Given the description of an element on the screen output the (x, y) to click on. 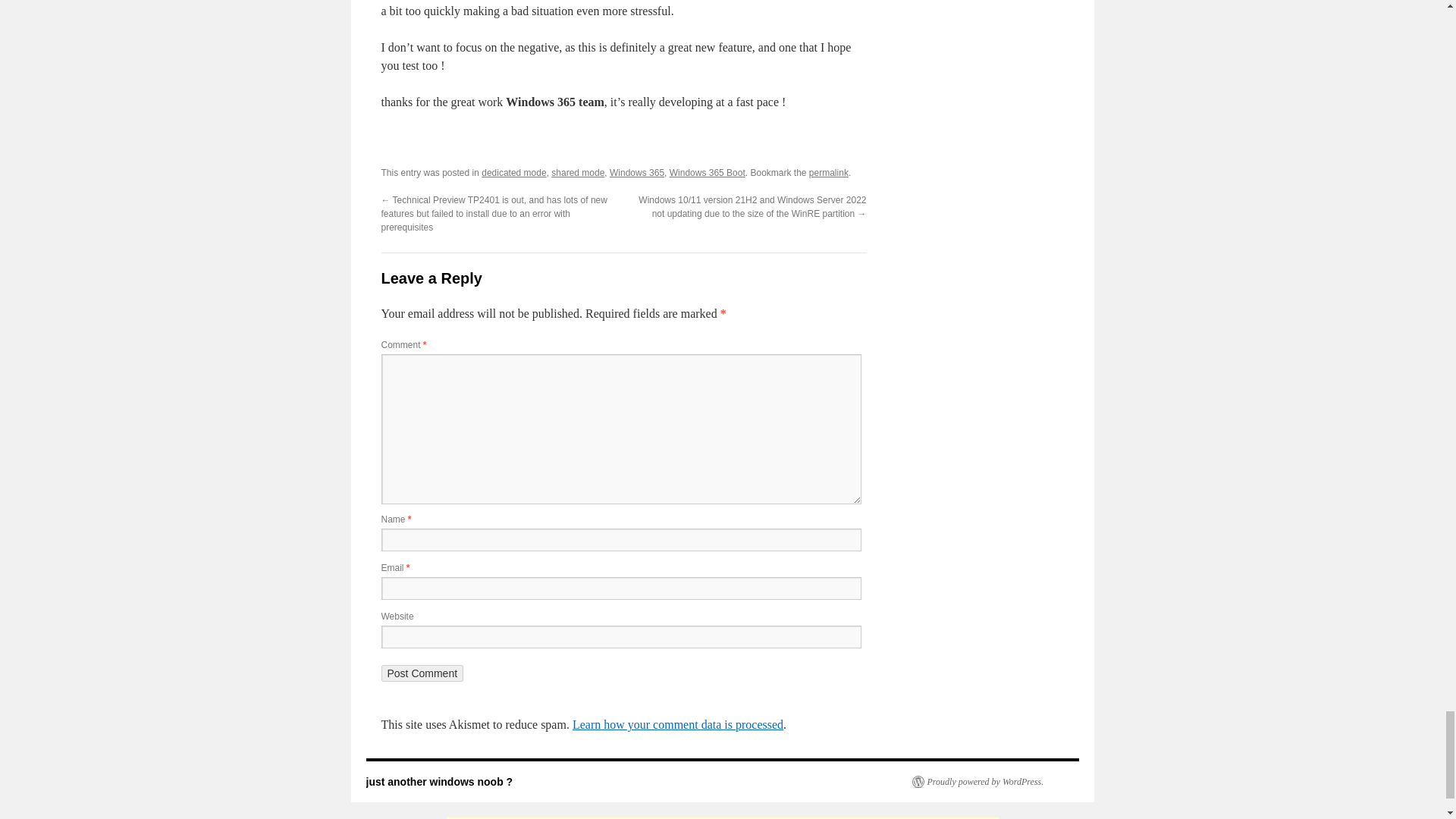
Semantic Personal Publishing Platform (977, 781)
Permalink to A quick look at Windows 365 Boot shared mode (828, 172)
just another windows noob ? (438, 781)
Post Comment (421, 673)
